Given the description of an element on the screen output the (x, y) to click on. 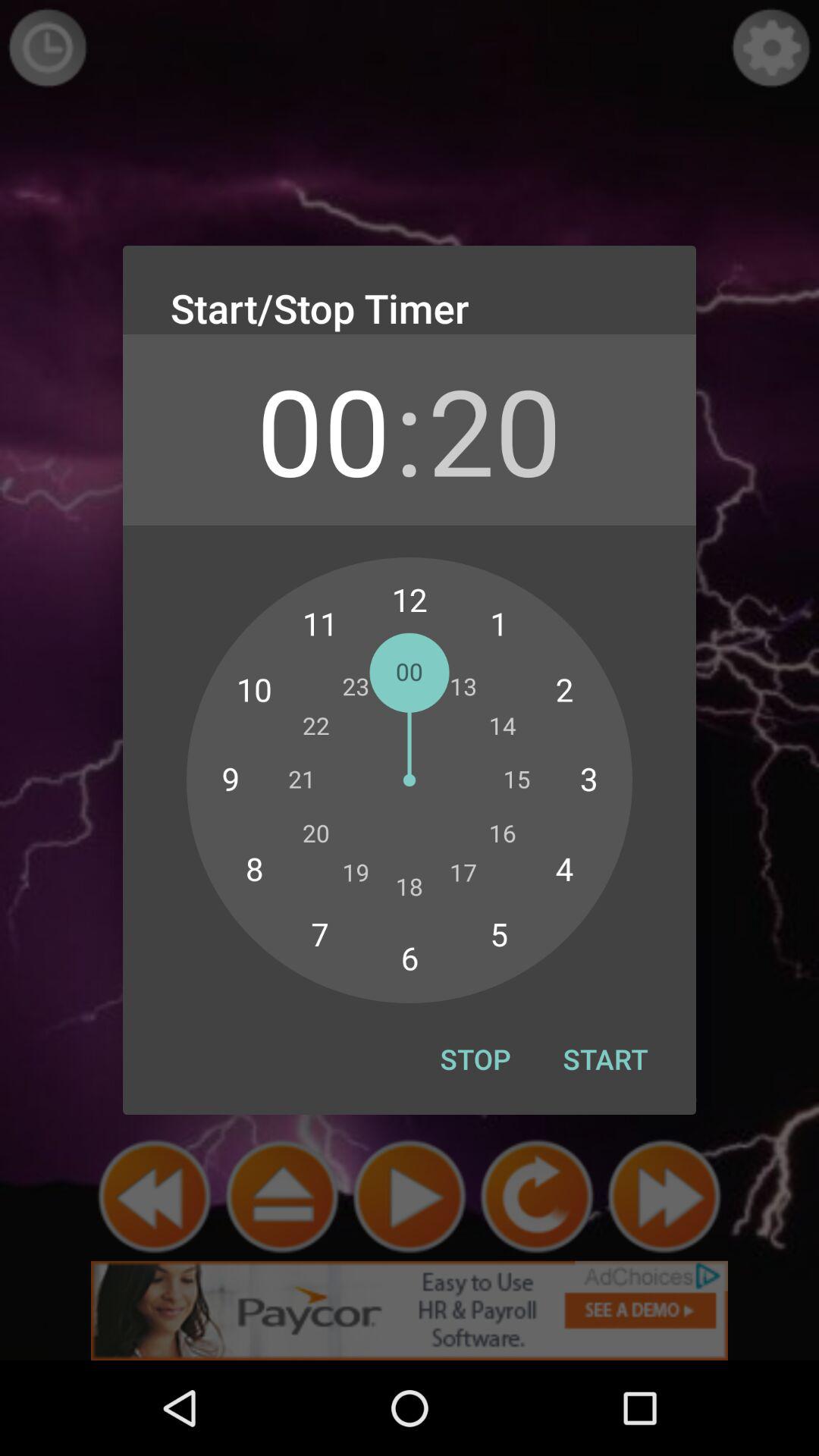
click the icon to the right of : (494, 429)
